Given the description of an element on the screen output the (x, y) to click on. 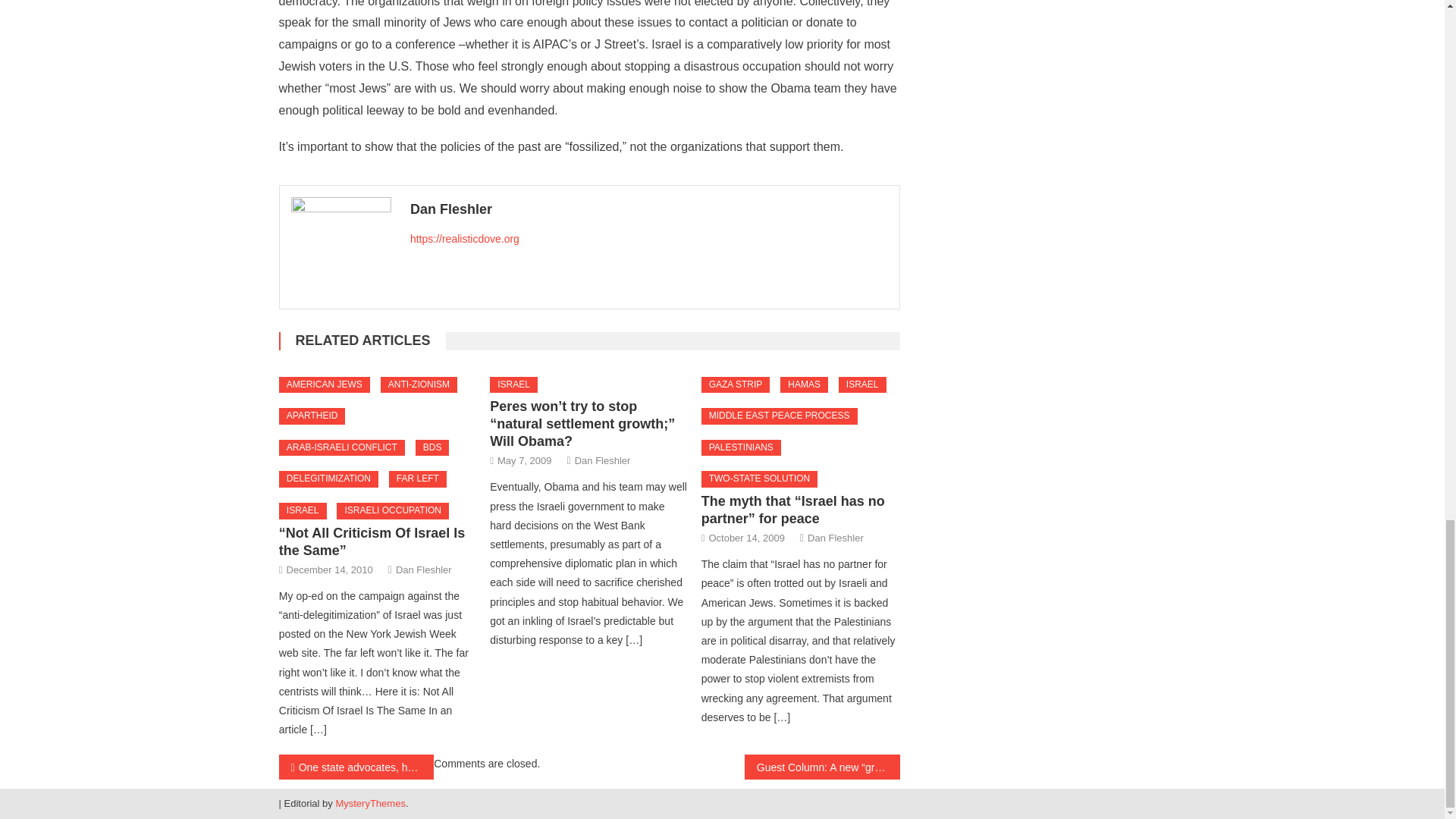
DELEGITIMIZATION (328, 478)
BDS (431, 447)
APARTHEID (312, 416)
ANTI-ZIONISM (418, 384)
AMERICAN JEWS (324, 384)
ARAB-ISRAELI CONFLICT (341, 447)
Dan Fleshler (649, 209)
